Given the description of an element on the screen output the (x, y) to click on. 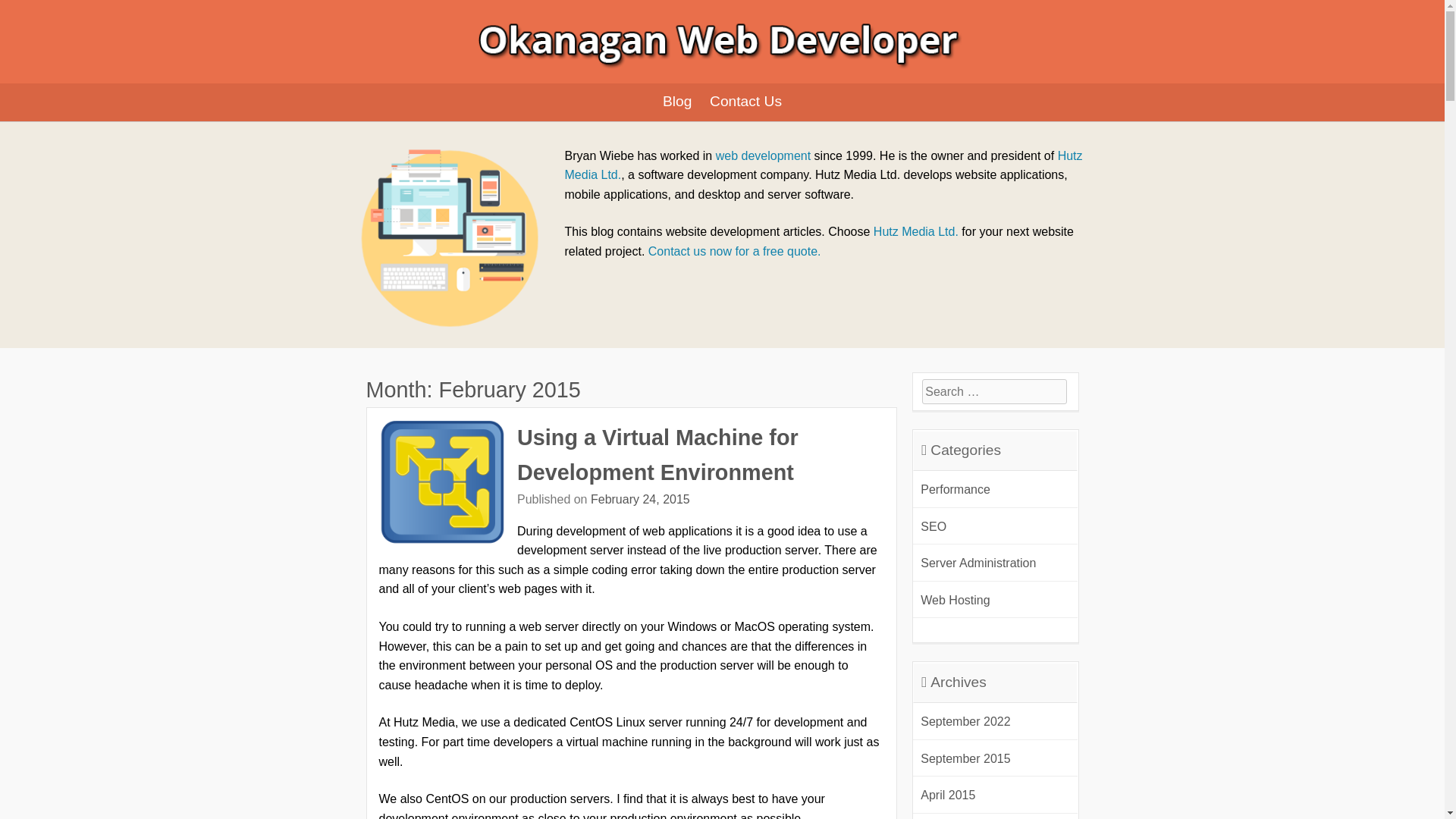
Contact us now for a free quote. (734, 250)
Skip to content (365, 89)
Using a Virtual Machine for Development Environment (656, 454)
Hutz Media Ltd. (915, 231)
February 24, 2015 (640, 499)
web development (763, 154)
Blog (676, 102)
Hutz Media Ltd. (822, 164)
Contact Us (745, 102)
